Given the description of an element on the screen output the (x, y) to click on. 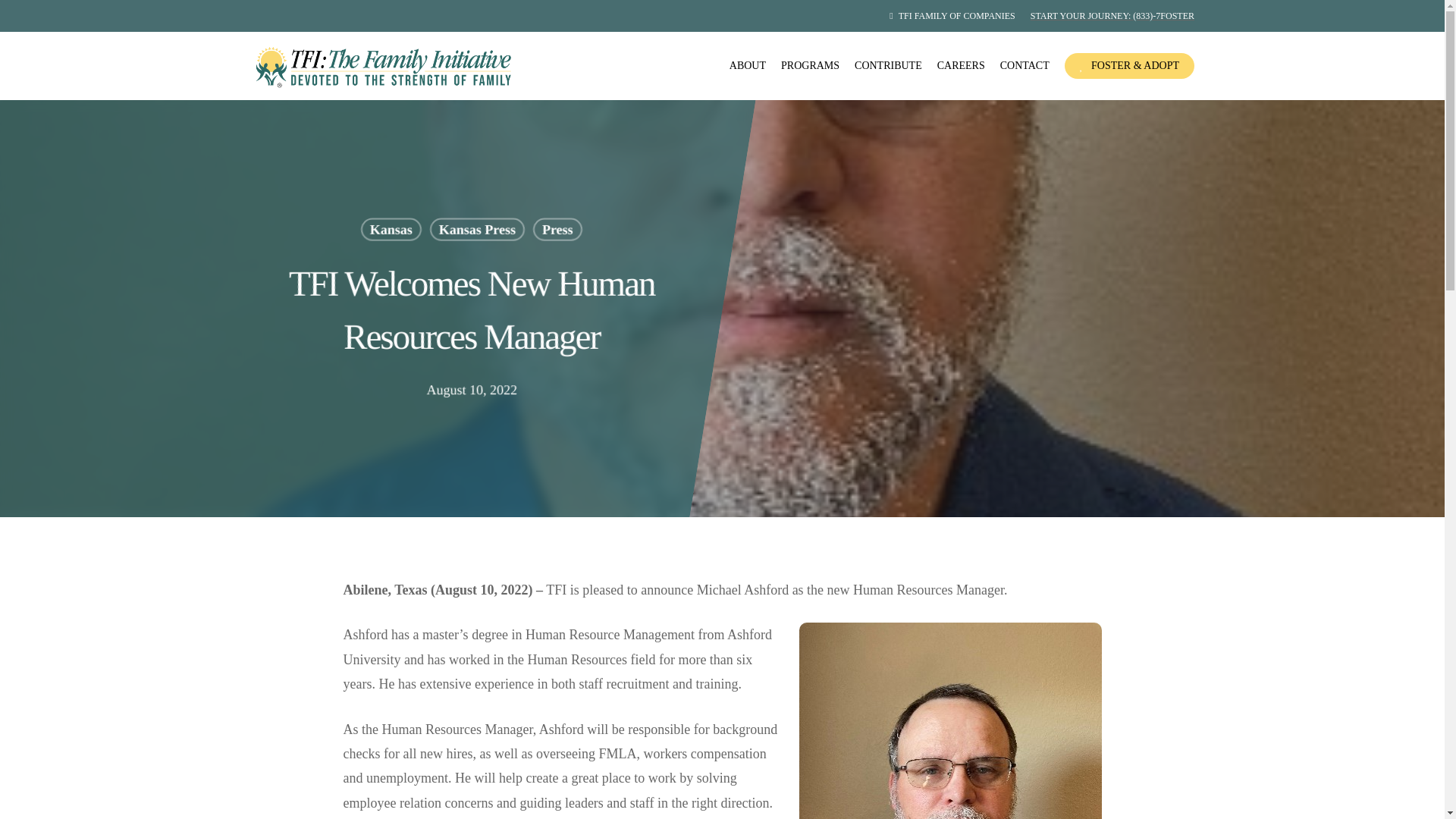
CAREERS (961, 65)
CONTACT (1024, 65)
TFI FAMILY OF COMPANIES (951, 15)
CONTRIBUTE (887, 65)
PROGRAMS (810, 65)
Kansas (389, 229)
ABOUT (747, 65)
